Given the description of an element on the screen output the (x, y) to click on. 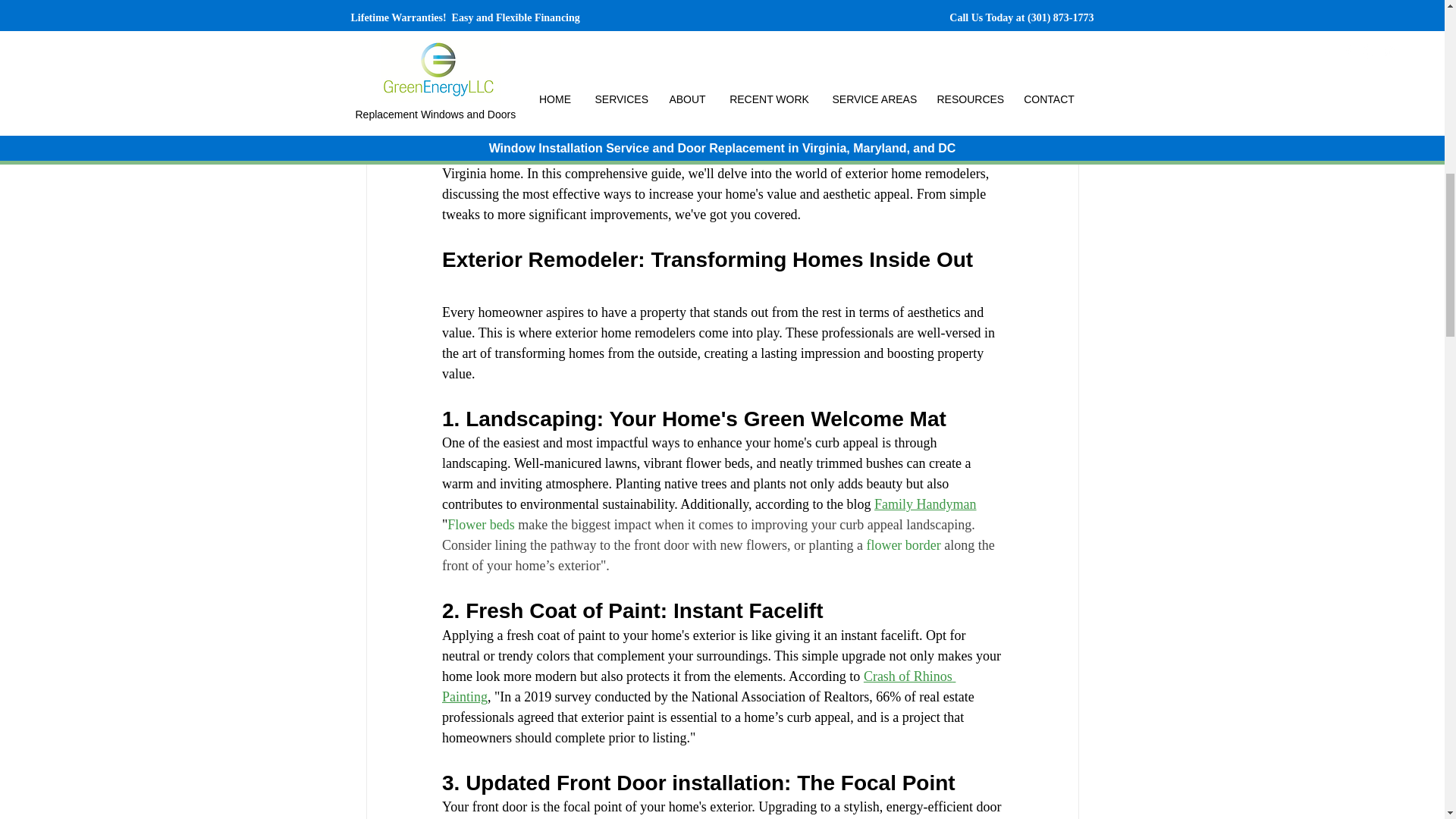
Crash of Rhinos Painting (698, 686)
Flower beds (480, 524)
Family Handyman (925, 503)
flower border (903, 544)
